Given the description of an element on the screen output the (x, y) to click on. 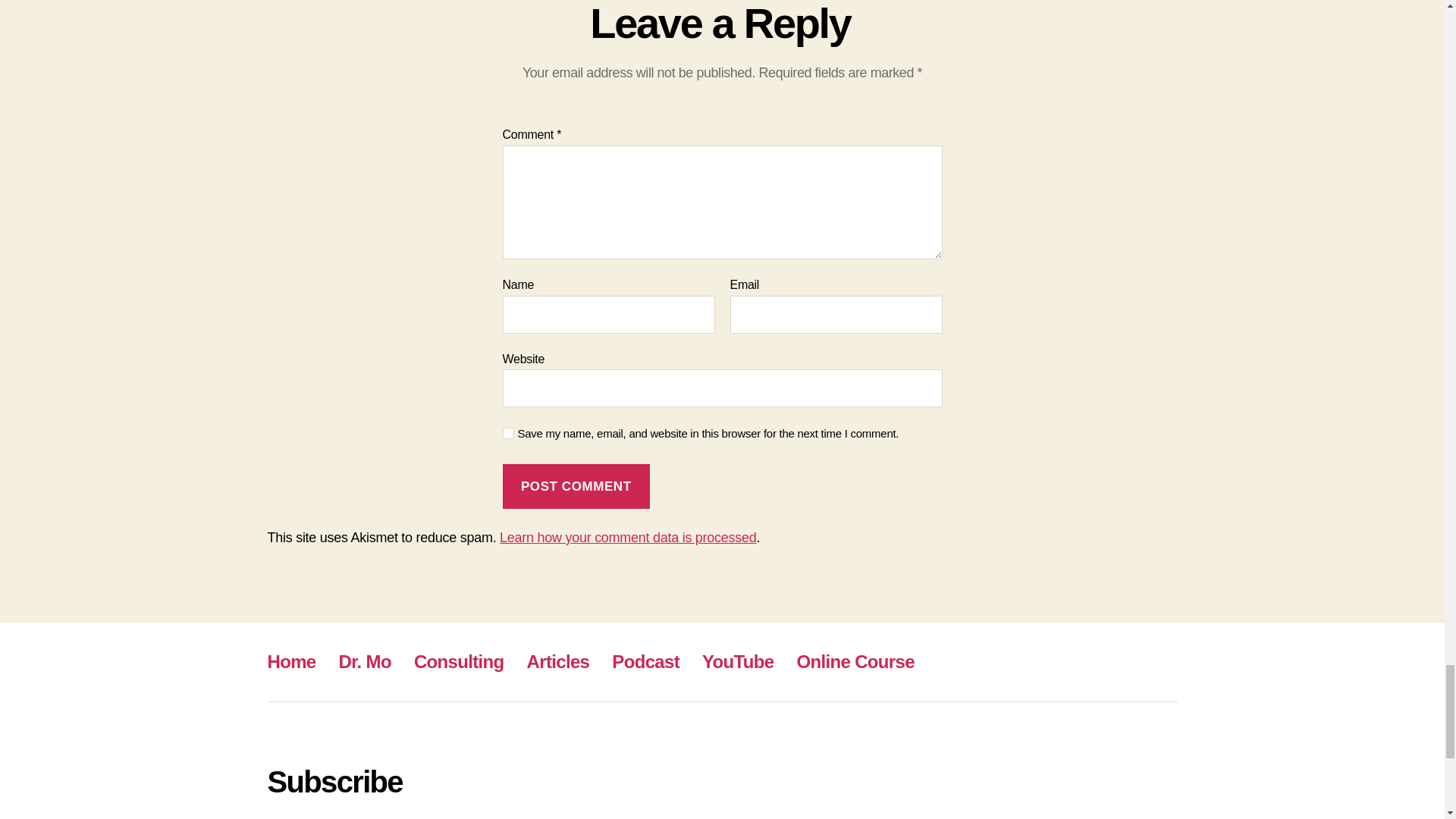
yes (507, 432)
A little about me and my timeline. (365, 661)
Post Comment (575, 486)
